Given the description of an element on the screen output the (x, y) to click on. 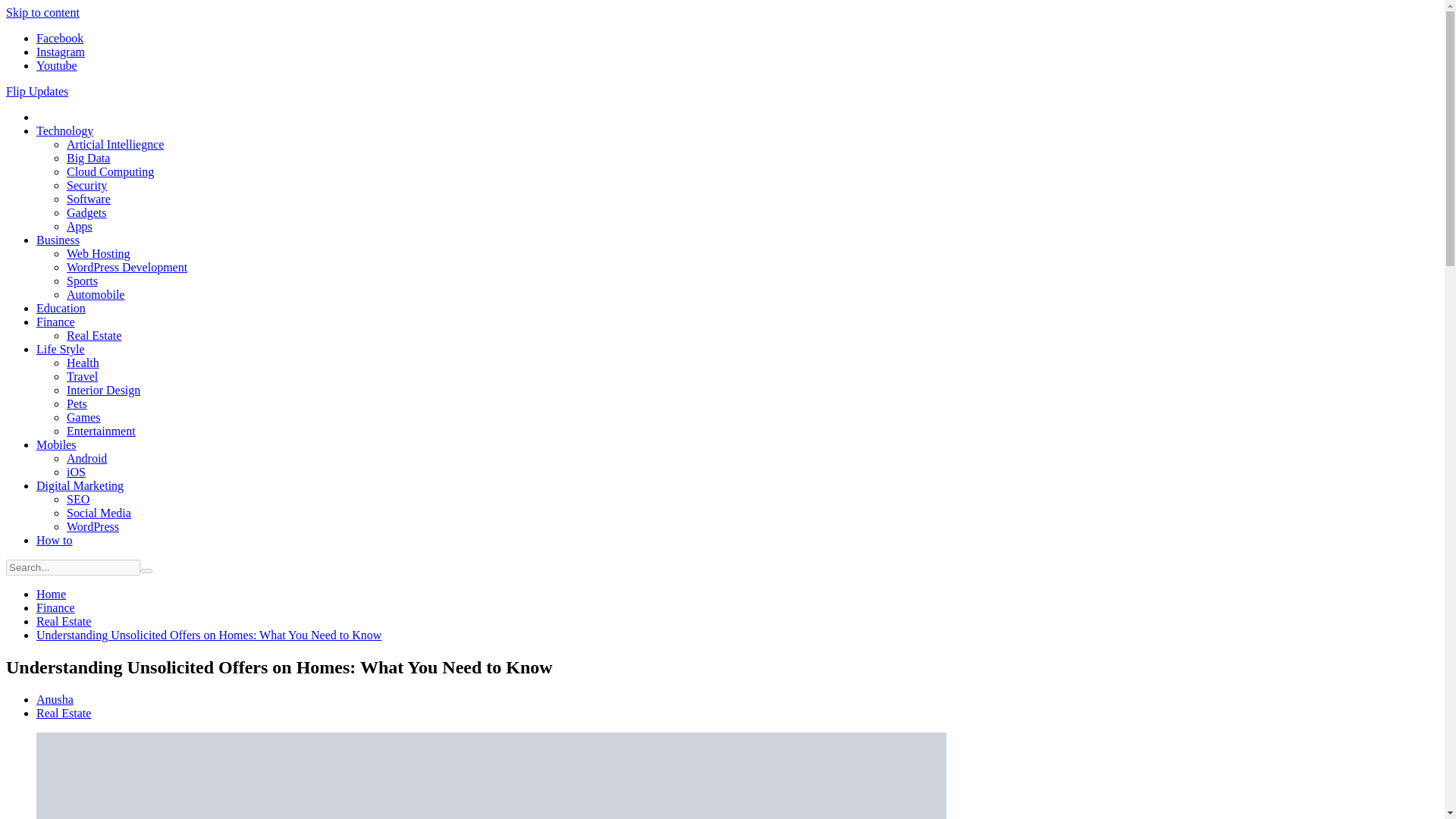
Social Media (98, 512)
WordPress (92, 526)
Software (88, 198)
Life Style (60, 349)
Android (86, 458)
Youtube (56, 65)
Health (82, 362)
Apps (79, 226)
Big Data (88, 157)
Finance (55, 607)
